Given the description of an element on the screen output the (x, y) to click on. 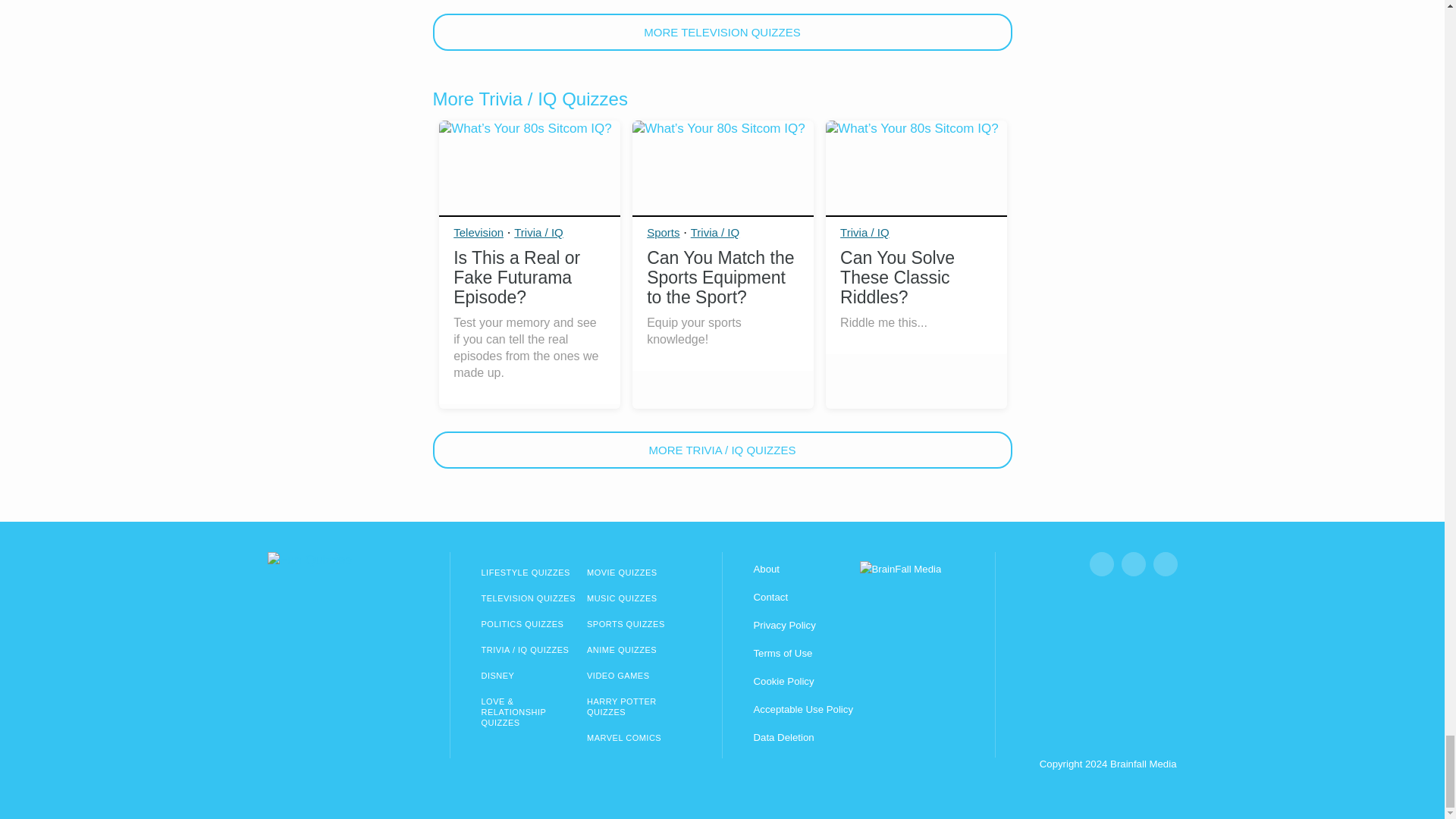
Follow us on Twitter! (1164, 564)
Like us on Facebook! (1101, 564)
Follow us on Instagram! (1132, 564)
